Given the description of an element on the screen output the (x, y) to click on. 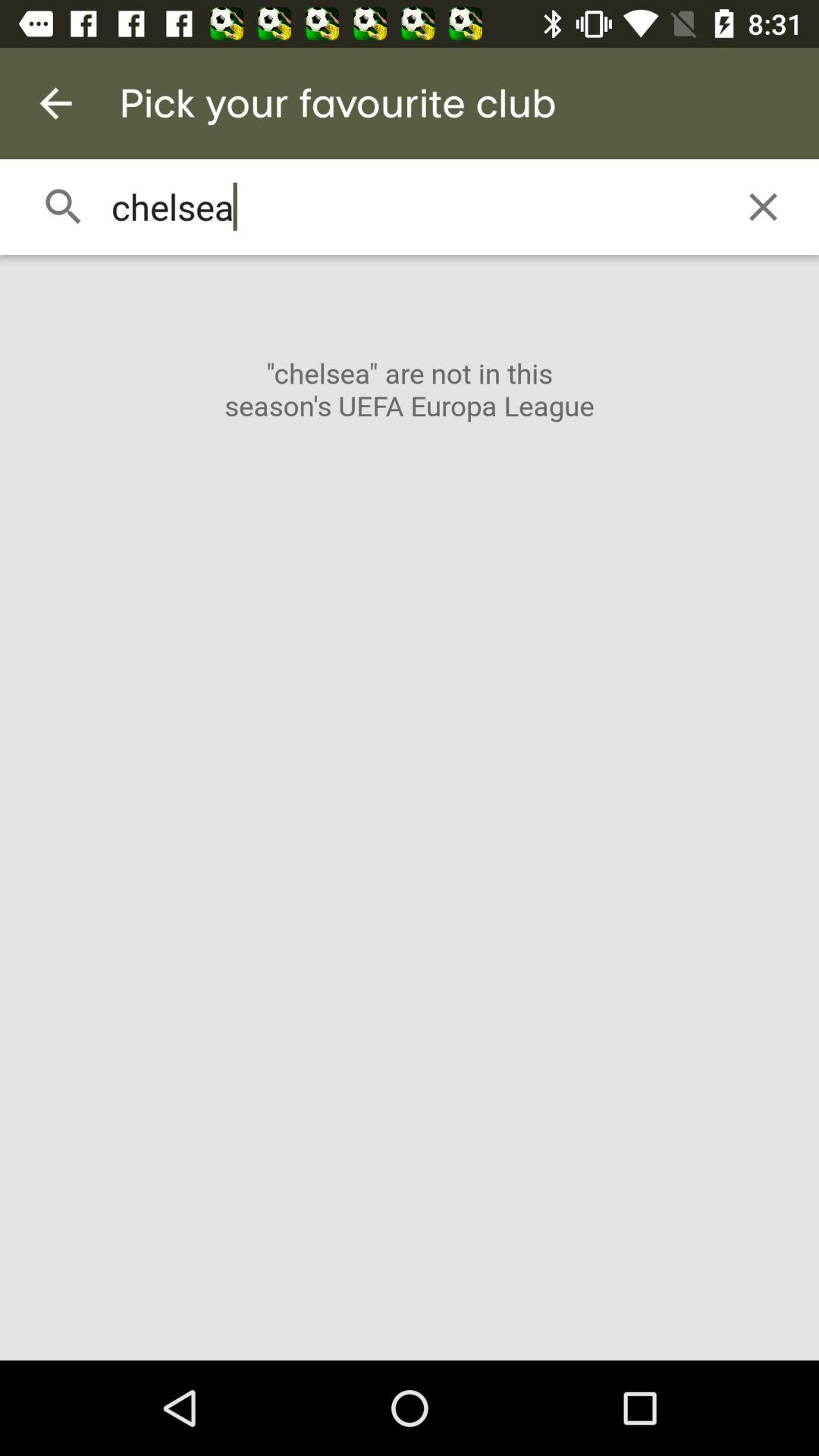
press icon to the right of chelsea (763, 206)
